Given the description of an element on the screen output the (x, y) to click on. 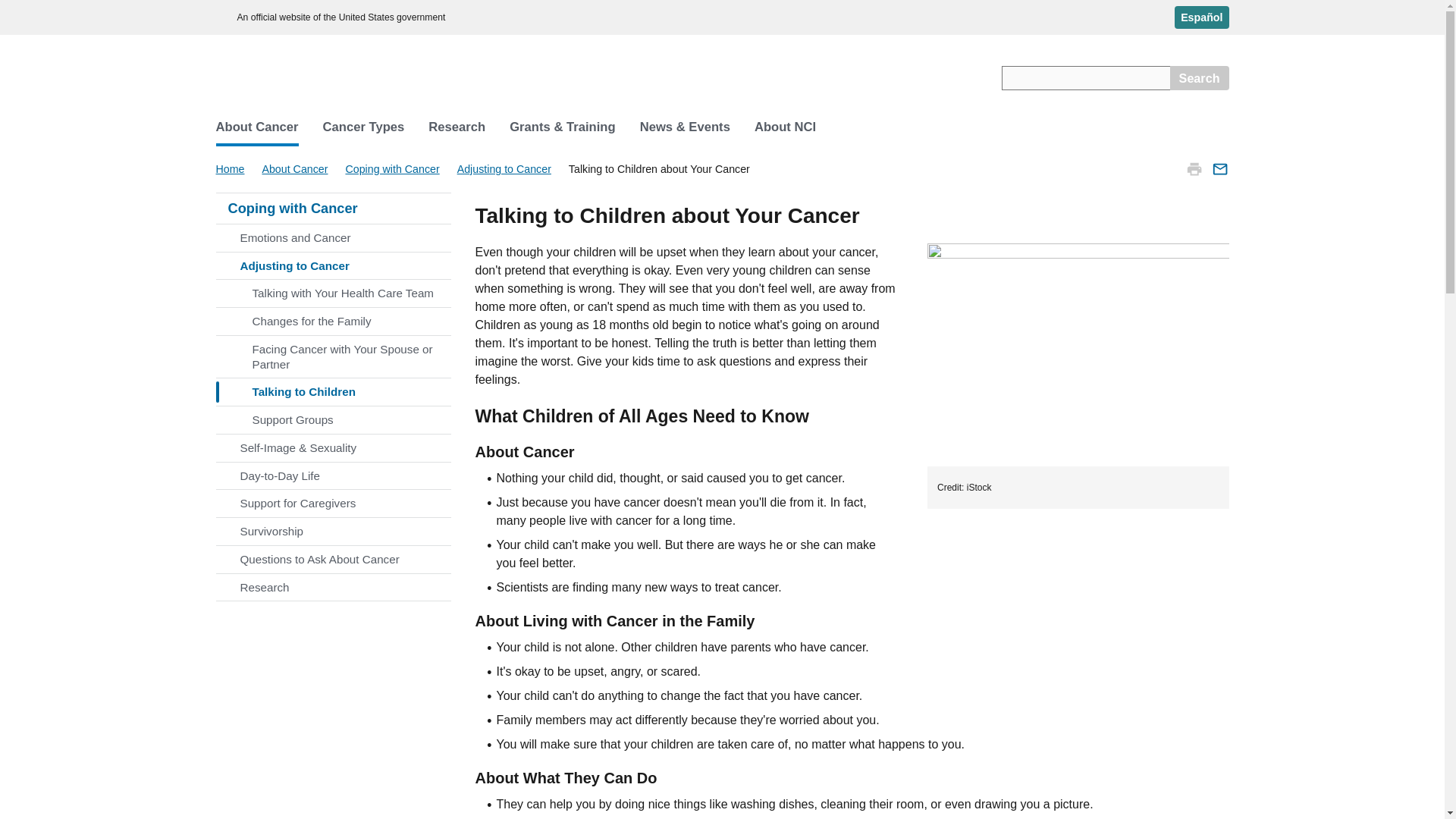
Survivorship (332, 531)
Research (456, 127)
Adjusting to Cancer (505, 168)
Emotions and Cancer (332, 237)
Adjusting to Cancer (332, 266)
Coping with Cancer (393, 168)
Talking to Children (332, 391)
Talking with Your Health Care Team (332, 293)
About NCI (785, 127)
Day-to-Day Life (332, 475)
